Given the description of an element on the screen output the (x, y) to click on. 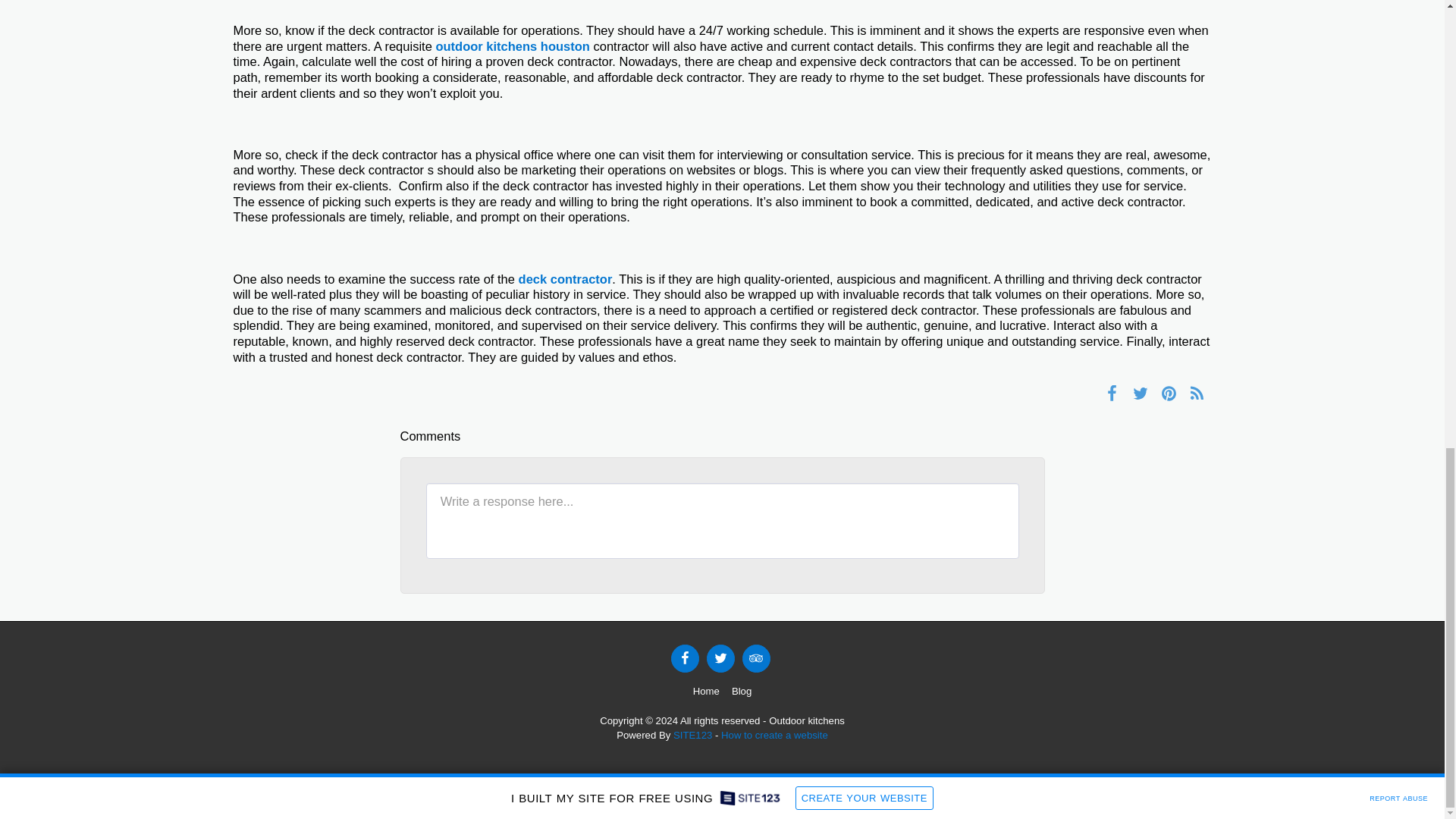
Share on Facebook (1111, 392)
Home (706, 691)
outdoor kitchens houston (512, 46)
deck contractor (565, 278)
SITE123 (691, 735)
How to create a website (774, 735)
